Given the description of an element on the screen output the (x, y) to click on. 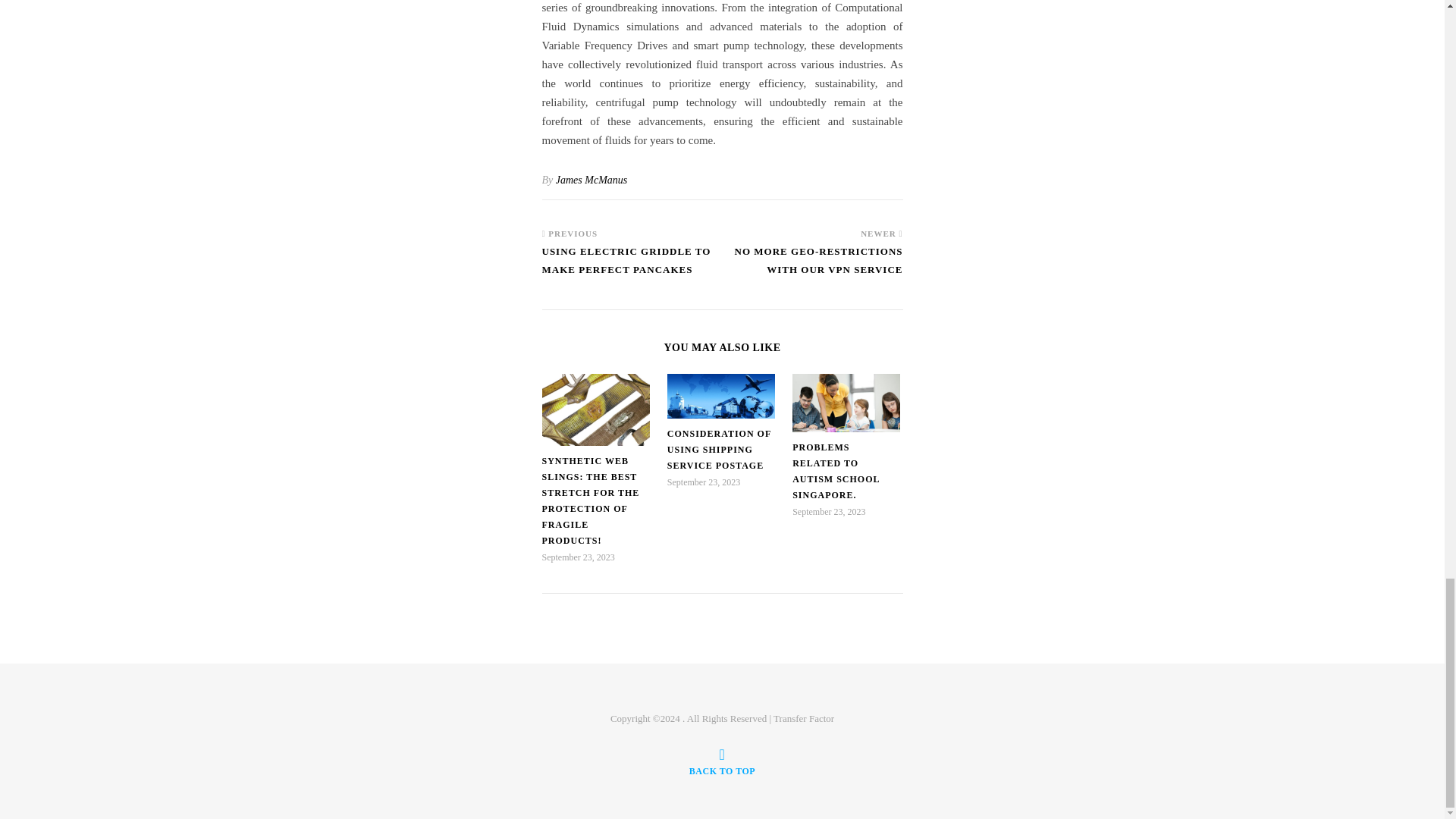
Posts by James McManus (591, 179)
BACK TO TOP (722, 761)
No More Geo-Restrictions with Our VPN Service (812, 267)
Using electric griddle to make perfect pancakes (631, 267)
